Given the description of an element on the screen output the (x, y) to click on. 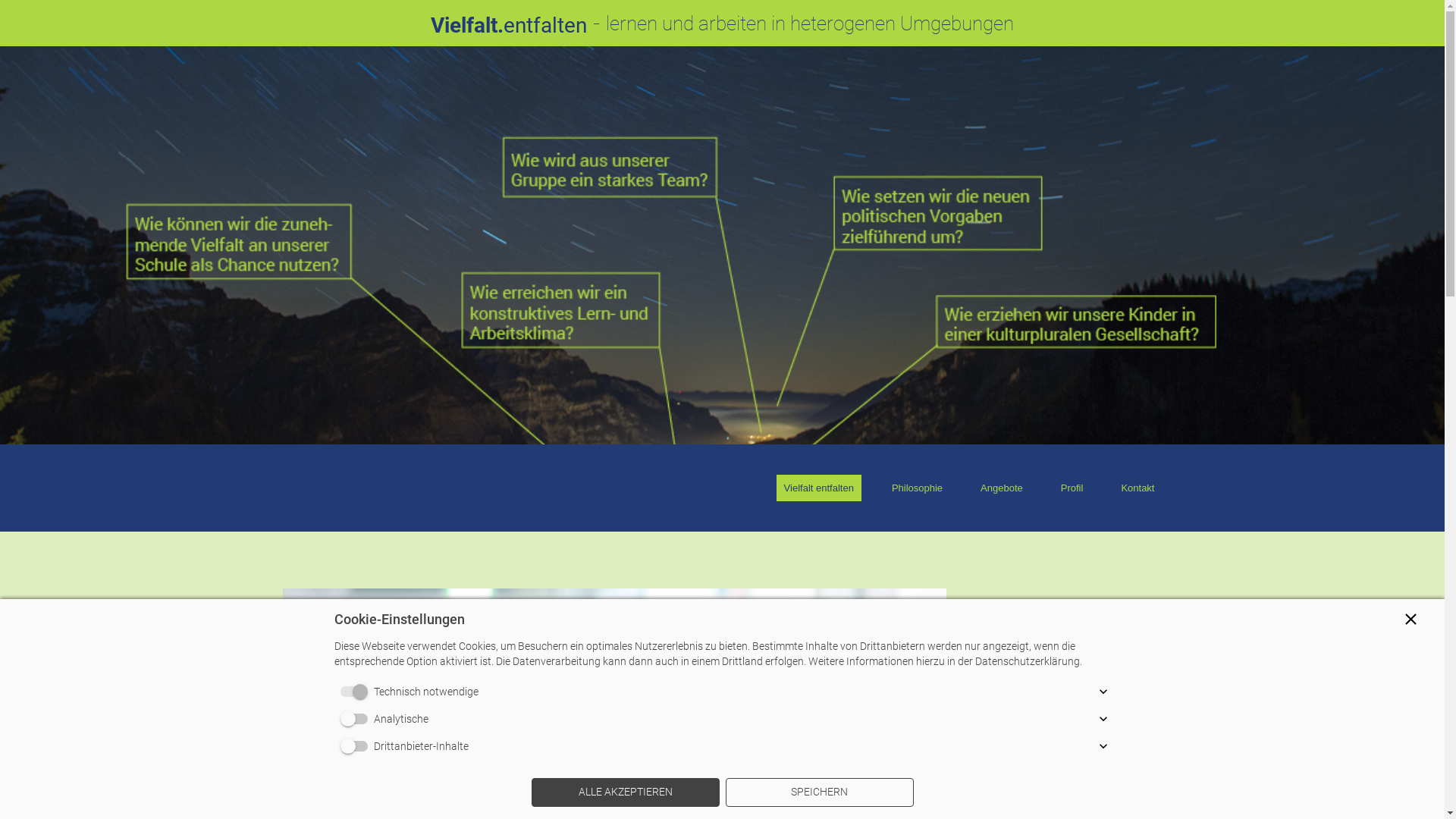
Angebote Element type: text (1001, 487)
Vielfalt entfalten Element type: text (818, 487)
ALLE AKZEPTIEREN Element type: text (624, 792)
Kontakt Element type: text (1137, 487)
SPEICHERN Element type: text (818, 792)
Profil Element type: text (1071, 487)
Philosophie Element type: text (916, 487)
